Given the description of an element on the screen output the (x, y) to click on. 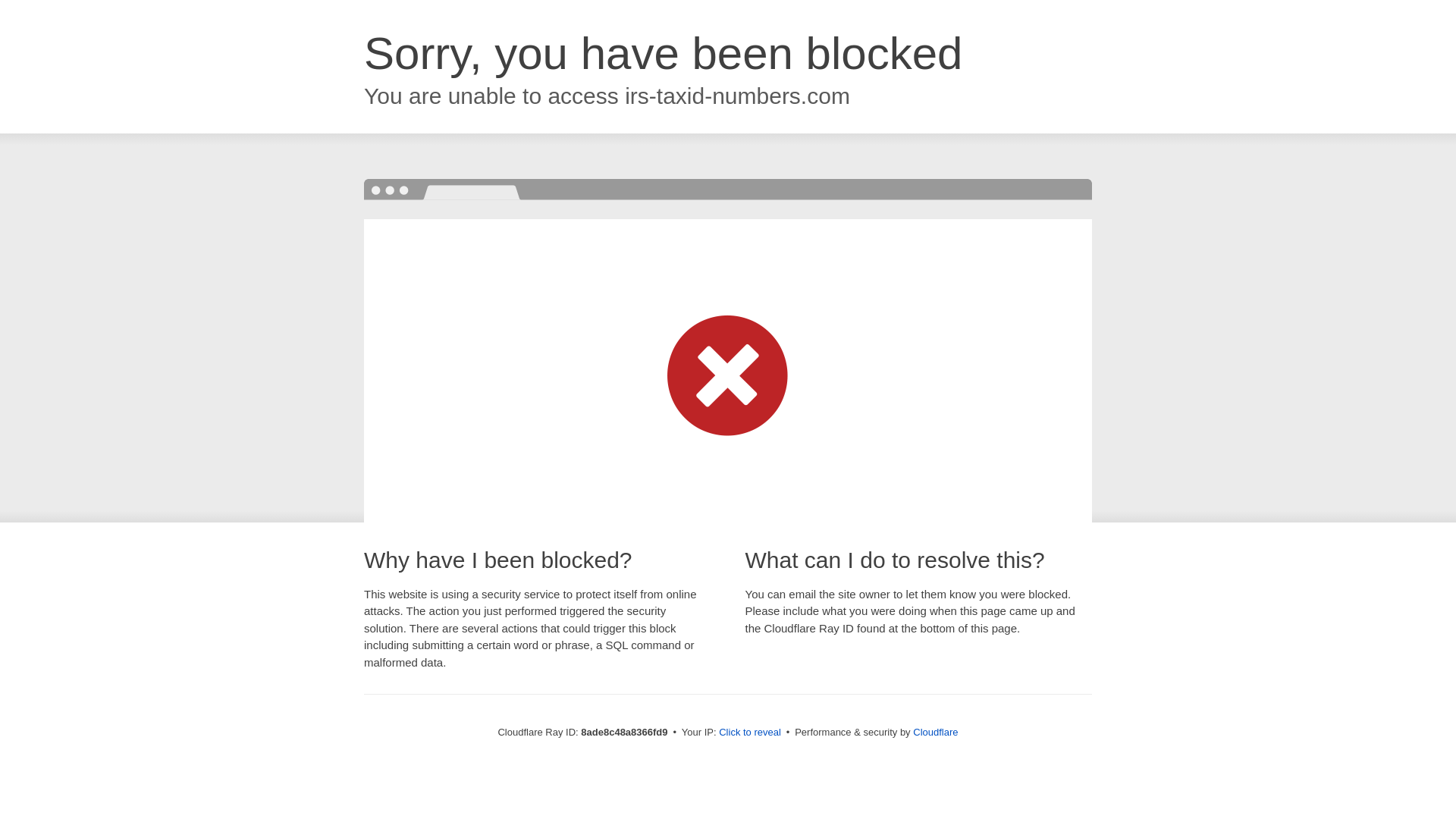
Click to reveal (749, 732)
Cloudflare (935, 731)
